Given the description of an element on the screen output the (x, y) to click on. 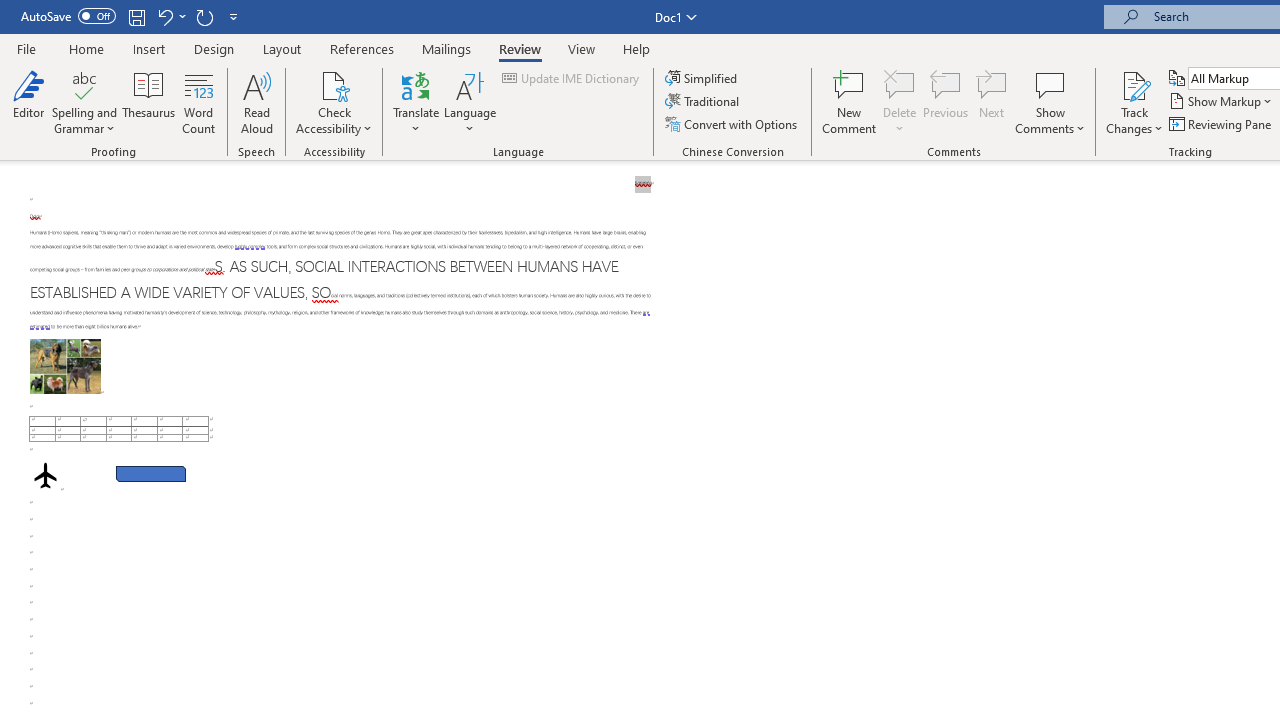
Check Accessibility (334, 102)
Read Aloud (256, 102)
Traditional (703, 101)
Undo Paragraph Alignment (164, 15)
Insert (149, 48)
Airplane with solid fill (45, 475)
Reviewing Pane (1221, 124)
Next (991, 102)
Check Accessibility (334, 84)
Delete (900, 102)
Quick Access Toolbar (131, 16)
Word Count (198, 102)
File Tab (26, 48)
Spelling and Grammar (84, 102)
Design (214, 48)
